Given the description of an element on the screen output the (x, y) to click on. 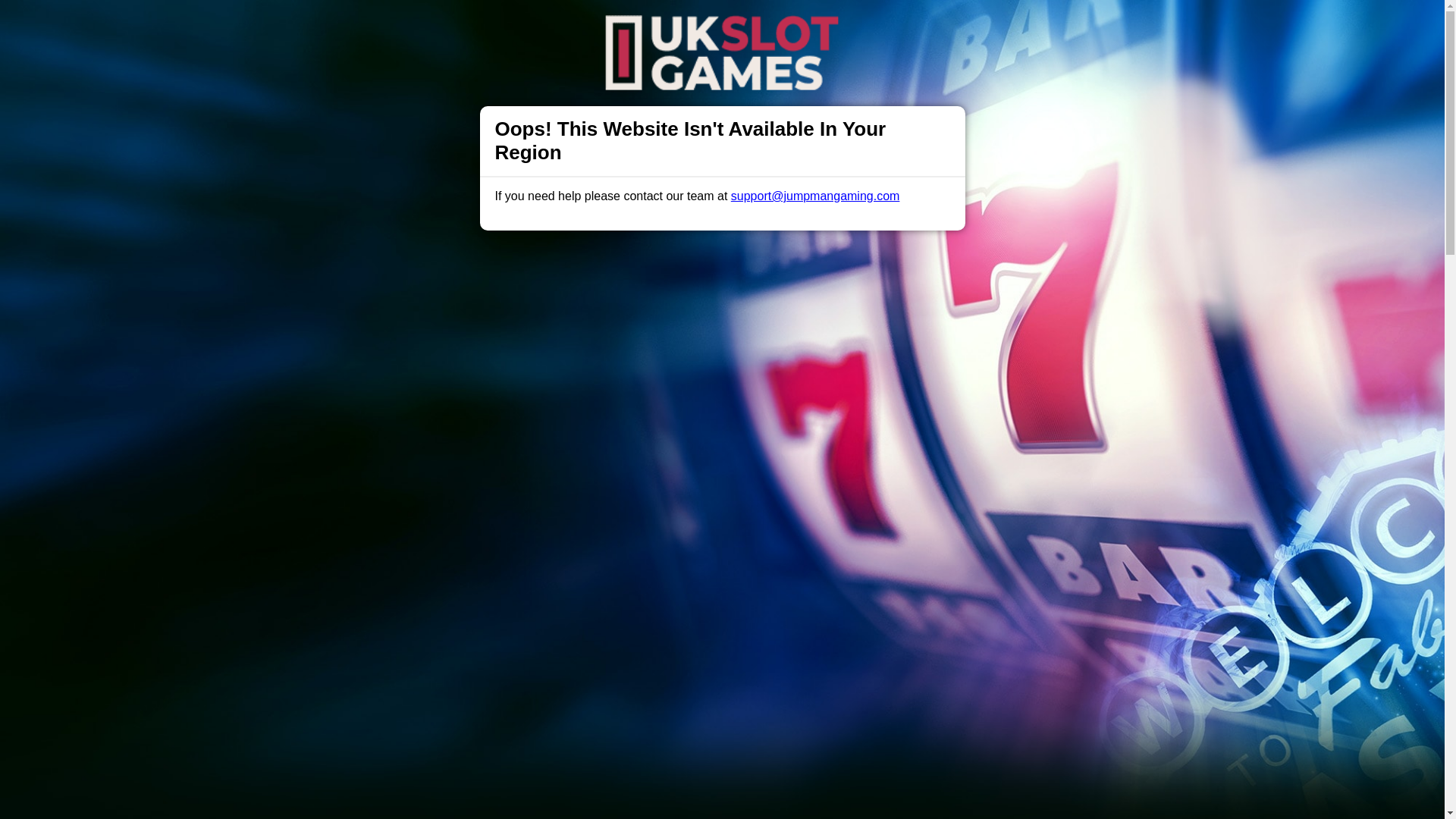
Slot Games (646, 26)
UK Slot Games (782, 170)
Promotions (568, 26)
Irish Luck UK Slot Game (722, 796)
Trophies (500, 26)
UK slot game (490, 537)
UK Slots (782, 170)
Login (963, 26)
Centurion UK Slot Game (722, 672)
Diamond Strike UK Slot Game (722, 740)
Join Now (1054, 26)
